Given the description of an element on the screen output the (x, y) to click on. 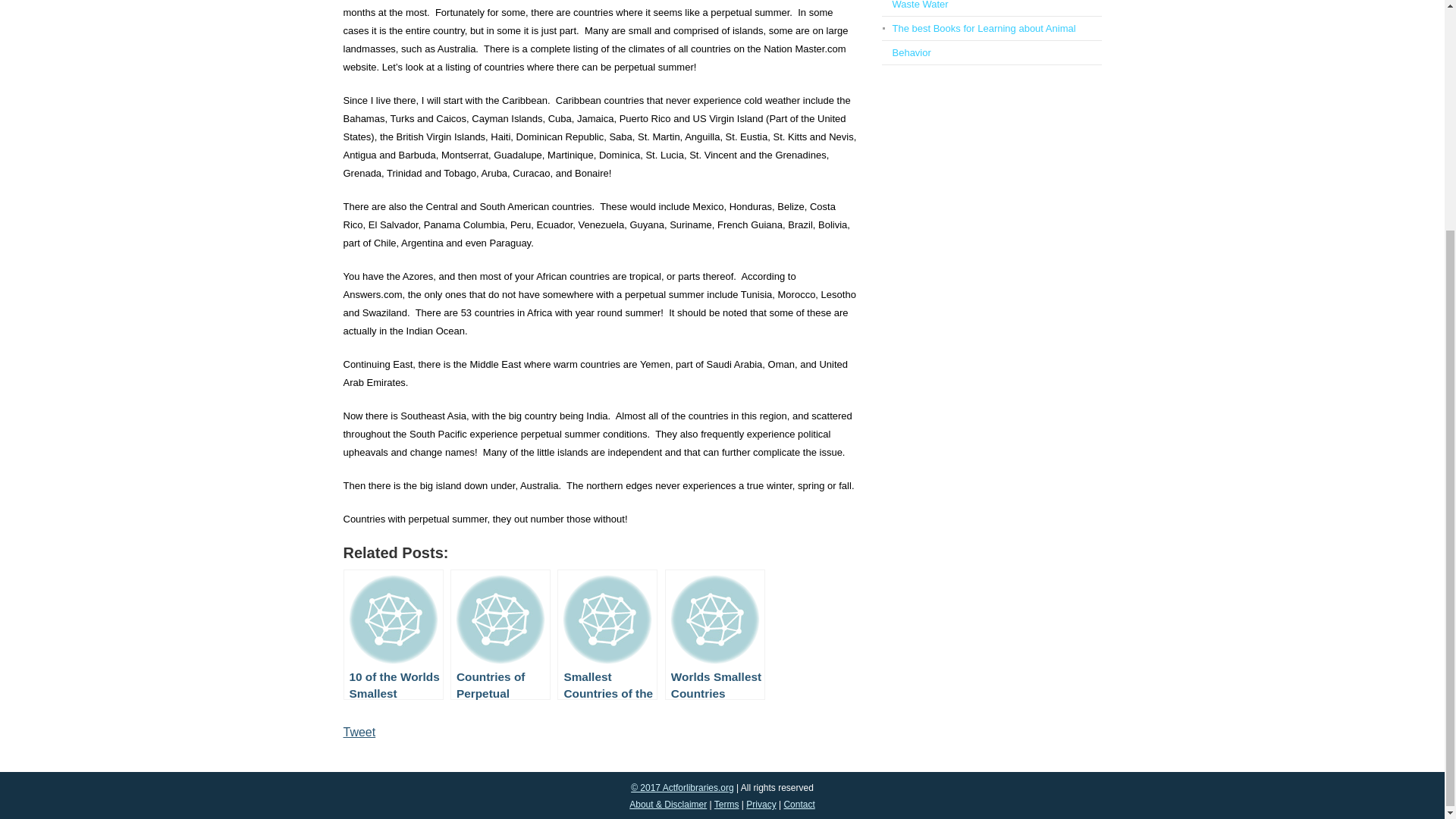
10 of the Worlds Smallest Countries (392, 634)
Smallest Countries of the World (607, 634)
The best Books for Learning about Animal Behavior (983, 40)
Countries of Perpetual Winter Weather (499, 634)
Privacy (760, 804)
Worlds Smallest Countries (715, 634)
10 of the Worlds Smallest Countries (392, 634)
Worlds Smallest Countries (715, 634)
Tweet (358, 731)
Countries of Perpetual Winter Weather (499, 634)
Terms (726, 804)
Smallest Countries of the World (607, 634)
Contact (798, 804)
